Given the description of an element on the screen output the (x, y) to click on. 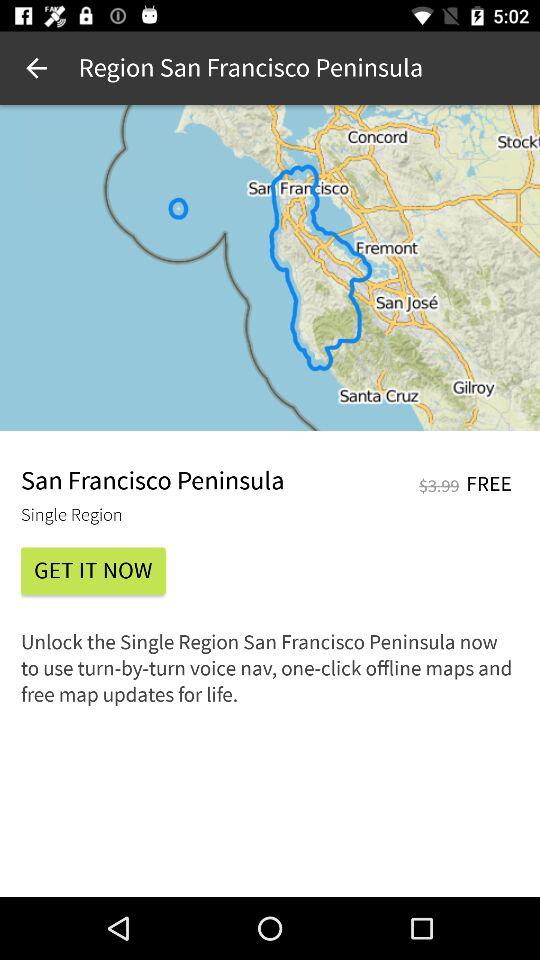
select unlock the single (270, 674)
